Given the description of an element on the screen output the (x, y) to click on. 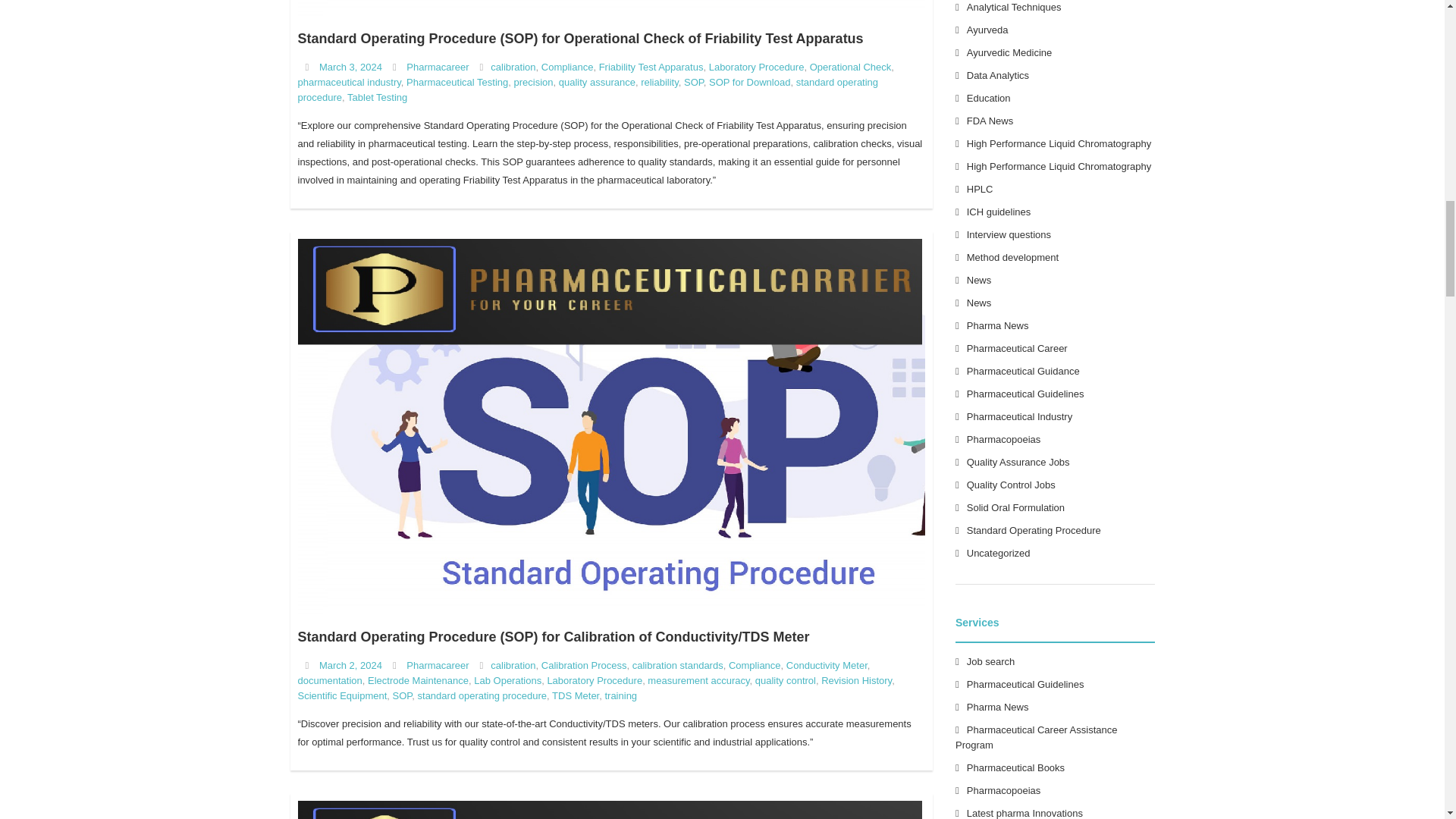
View all posts by Pharmacareer (437, 665)
View all posts by Pharmacareer (437, 66)
10:54 am (349, 66)
5:47 pm (349, 665)
